Given the description of an element on the screen output the (x, y) to click on. 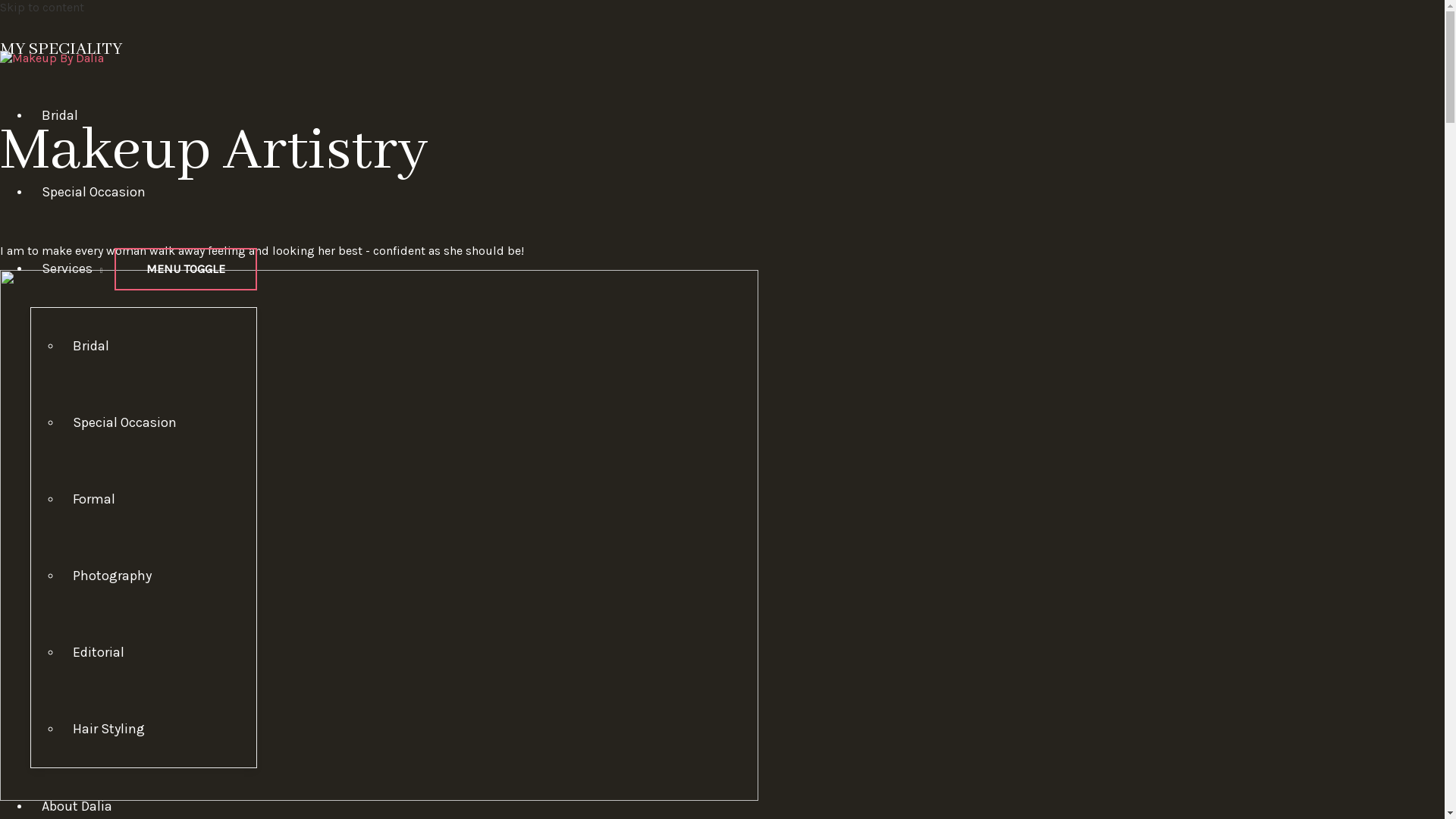
Special Occasion Element type: text (93, 191)
Bridal Element type: text (90, 345)
Special Occasion Element type: text (124, 422)
Services Element type: text (72, 268)
Formal Element type: text (93, 498)
Bridal Element type: text (59, 114)
MENU TOGGLE Element type: text (185, 268)
Photography Element type: text (112, 575)
Editorial Element type: text (98, 651)
Hair Styling Element type: text (108, 728)
About Dalia Element type: text (76, 805)
Skip to content Element type: text (42, 7)
